Given the description of an element on the screen output the (x, y) to click on. 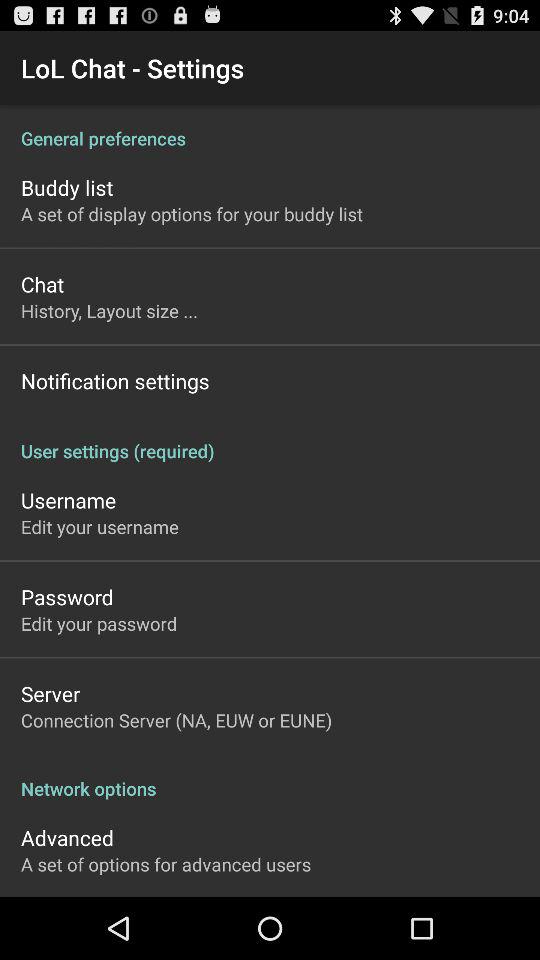
flip until history, layout size ... icon (109, 310)
